Given the description of an element on the screen output the (x, y) to click on. 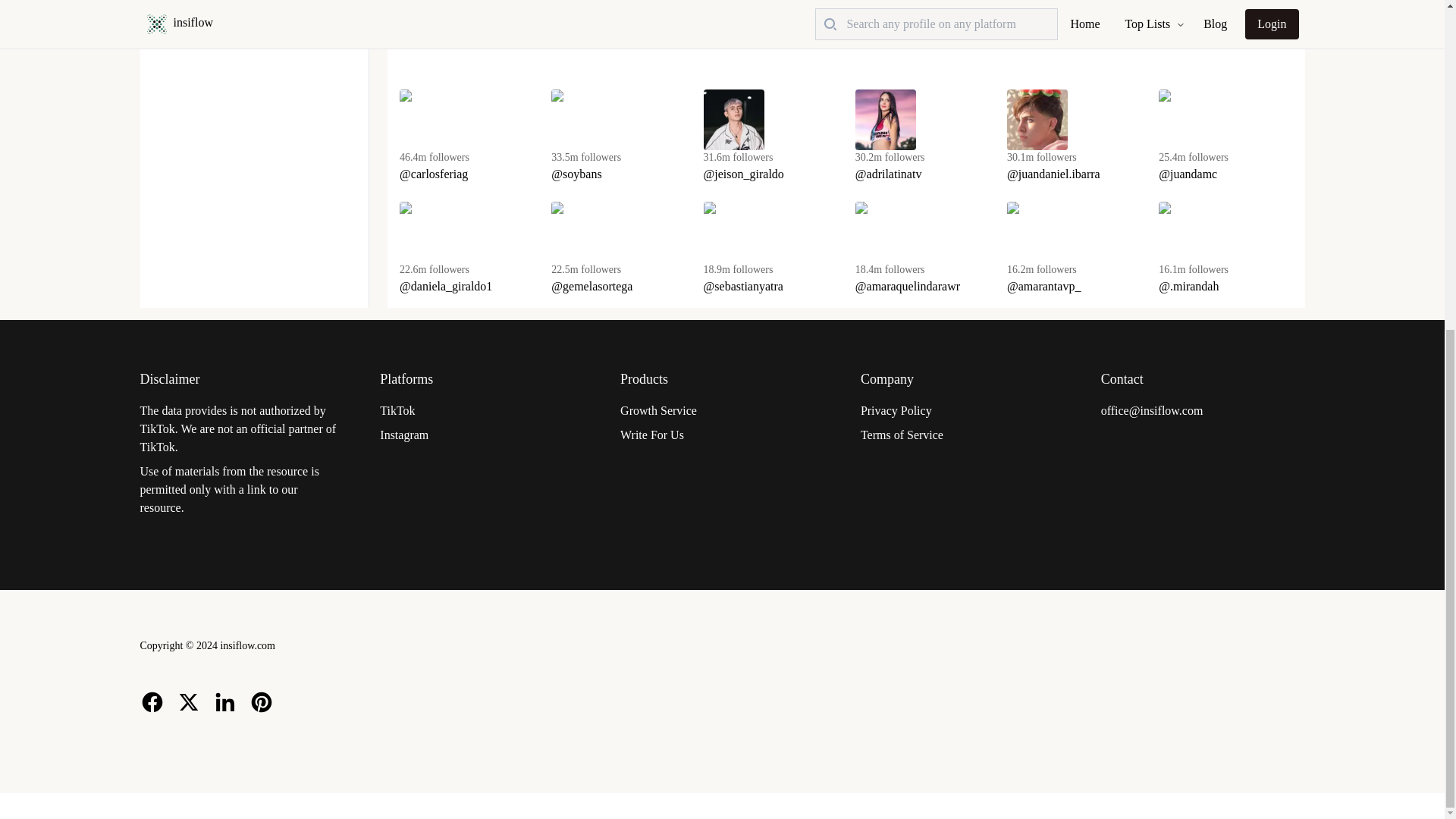
Advertisement (845, 41)
